Given the description of an element on the screen output the (x, y) to click on. 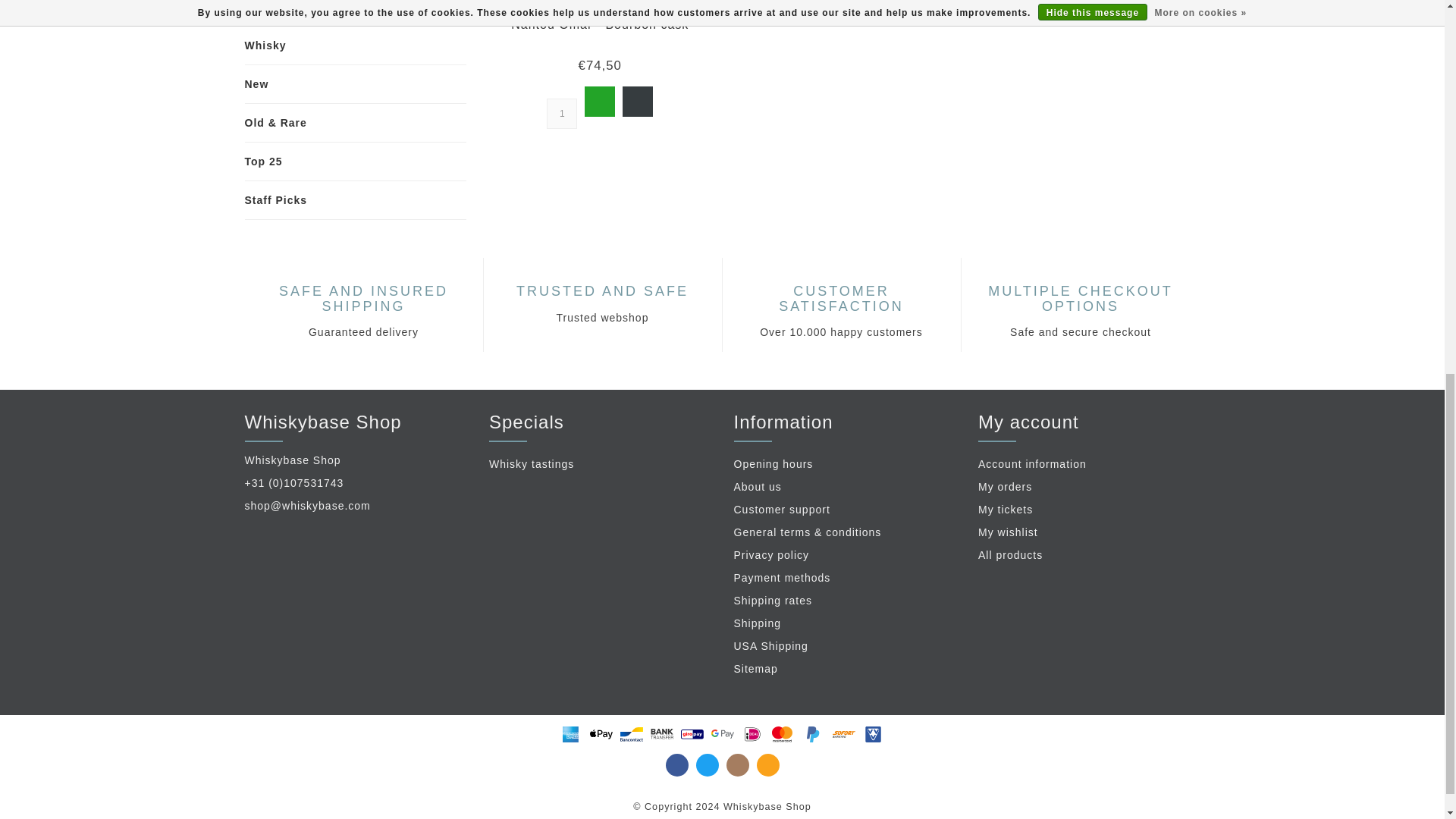
Whisky tastings (600, 464)
My tickets (1088, 509)
Customer support (844, 509)
Nantou Omar - Bourbon cask (612, 9)
About us (844, 486)
Nantou Nantou Omar - Bourbon cask (599, 24)
My orders (1088, 486)
Opening hours (844, 464)
Shipping rates (844, 600)
Privacy policy (844, 555)
